Given the description of an element on the screen output the (x, y) to click on. 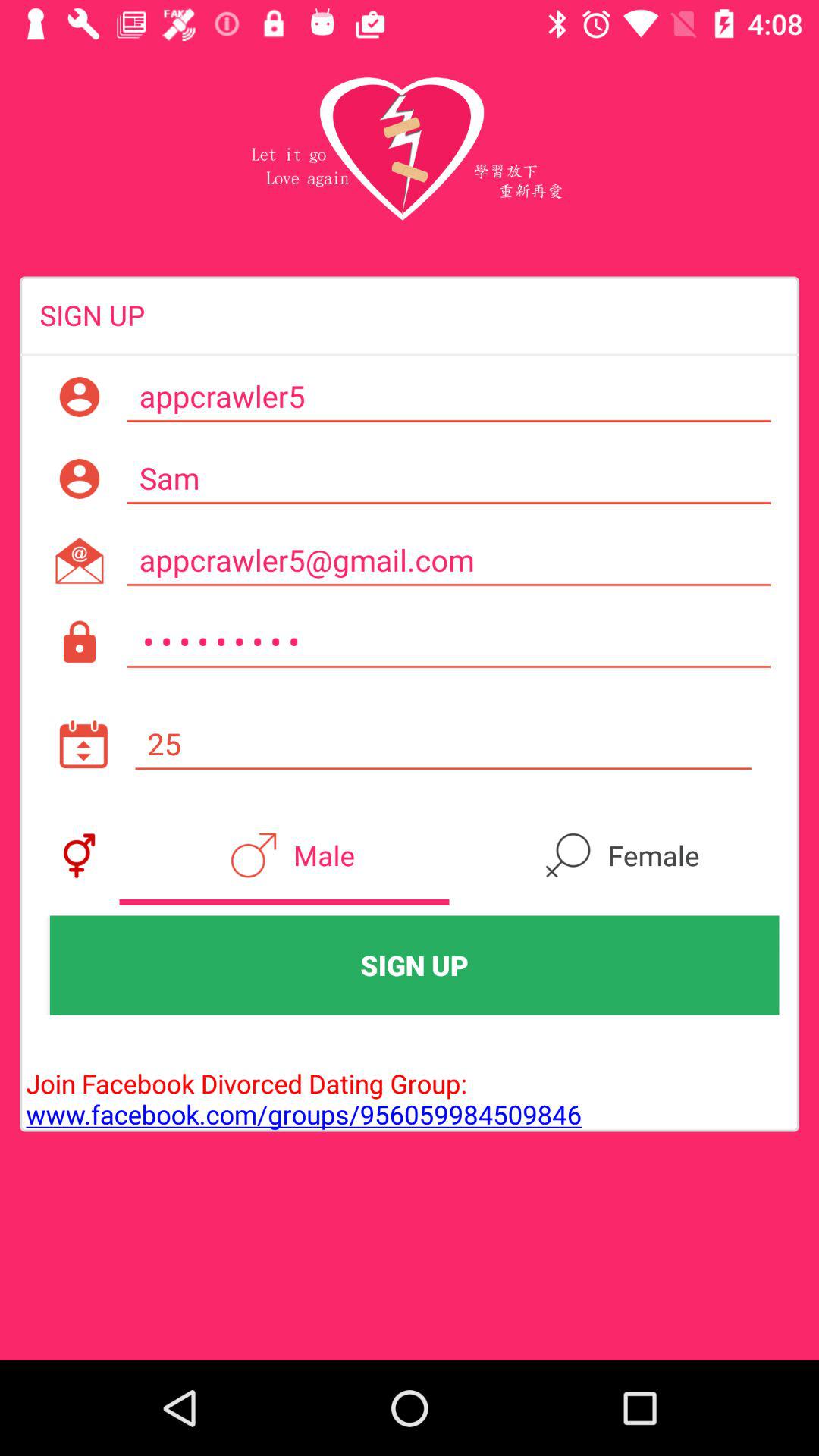
select icon above the crowd3116 (449, 560)
